Given the description of an element on the screen output the (x, y) to click on. 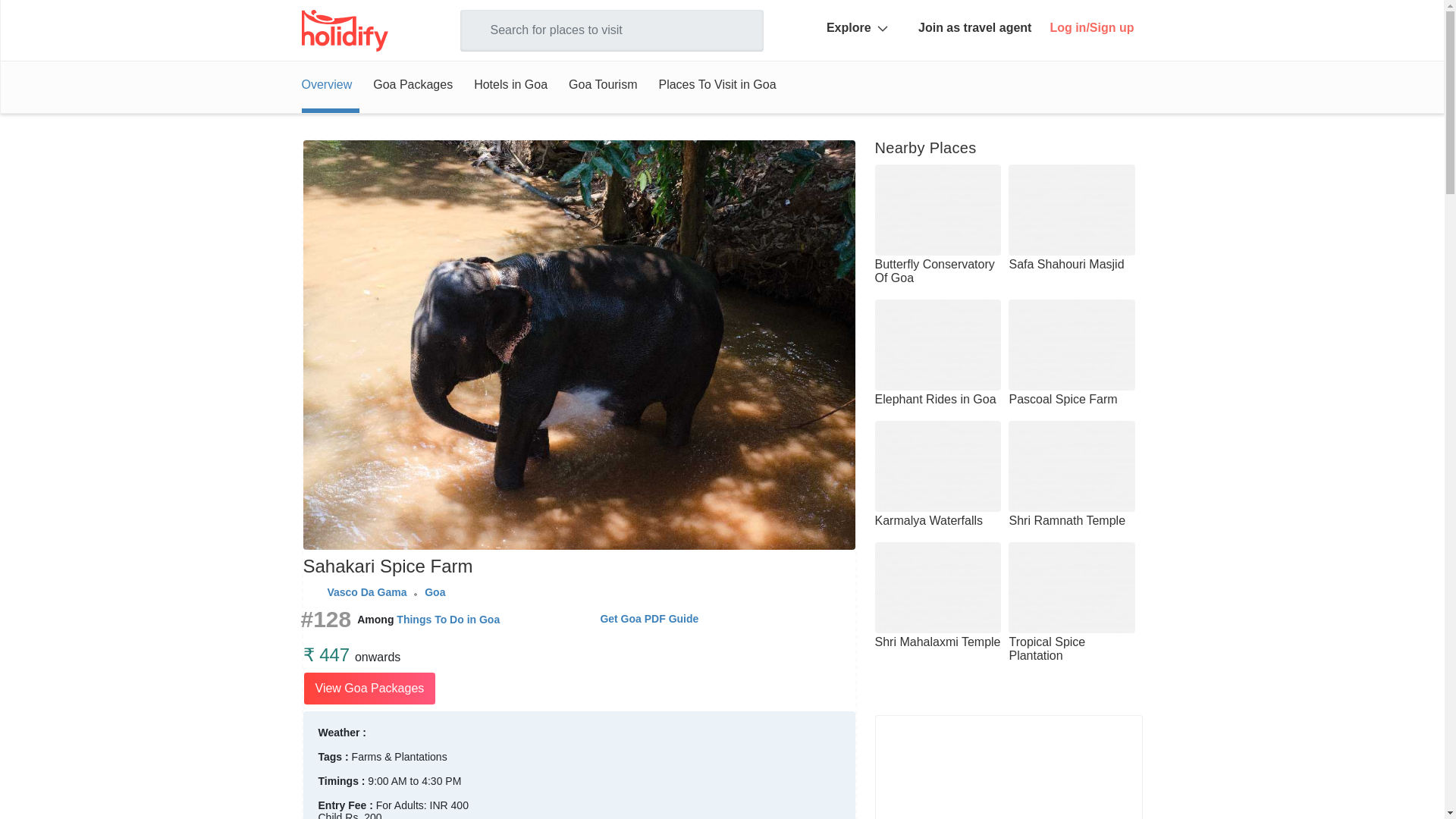
Goa Packages (412, 84)
Things To Do in Goa (447, 619)
Get Goa PDF Guide (648, 618)
View Goa Packages (369, 688)
Overview (330, 84)
Places To Visit in Goa (716, 84)
Goa Tourism (602, 84)
Vasco Da Gama (366, 591)
Hotels in Goa (509, 84)
Goa (435, 591)
Join as travel agent (974, 28)
